Given the description of an element on the screen output the (x, y) to click on. 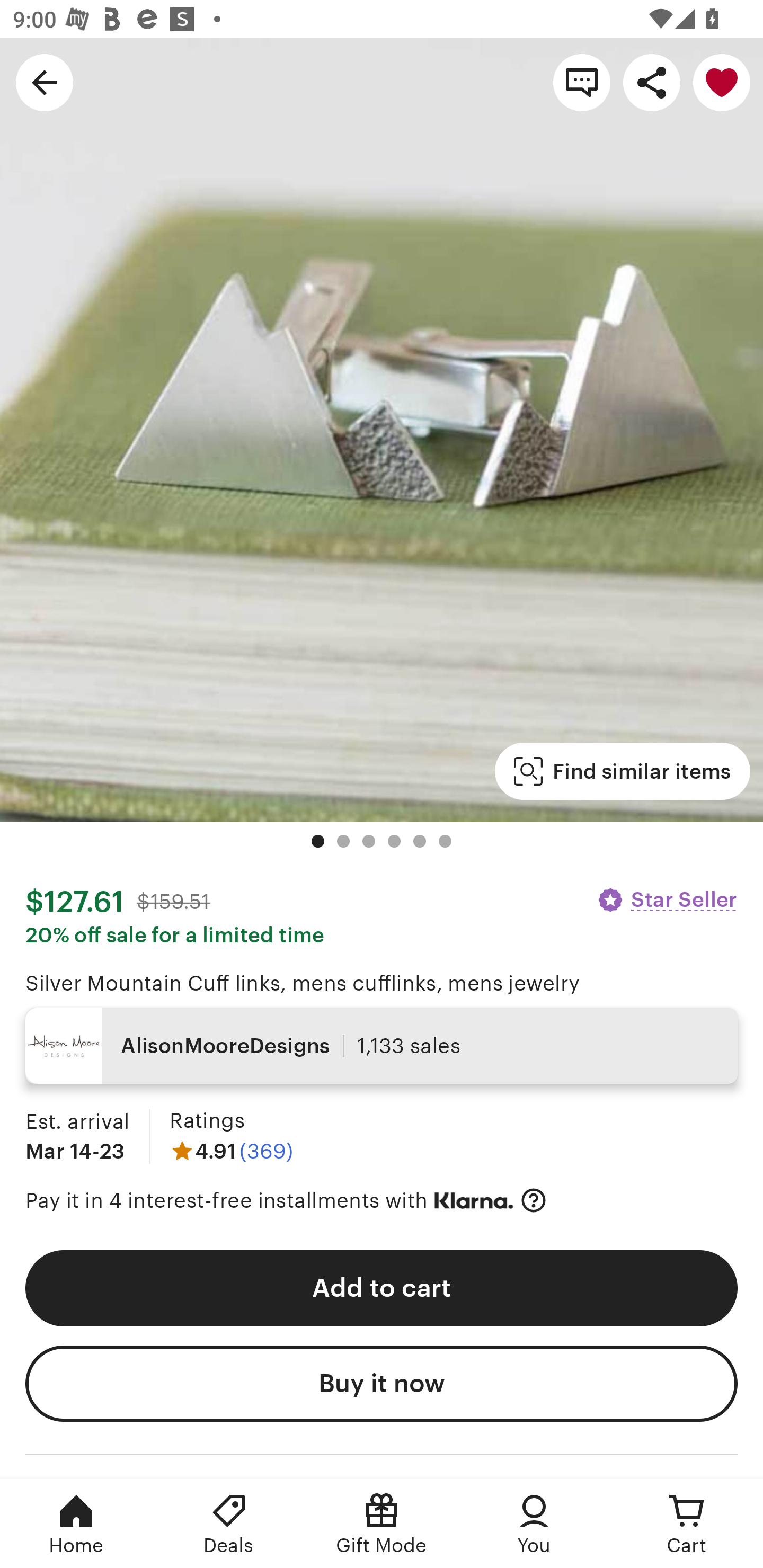
Navigate up (44, 81)
Contact shop (581, 81)
Share (651, 81)
Find similar items (622, 771)
Star Seller (666, 899)
AlisonMooreDesigns 1,133 sales (381, 1045)
Ratings (206, 1120)
4.91 (369) (231, 1150)
Add to cart (381, 1287)
Buy it now (381, 1383)
Deals (228, 1523)
Gift Mode (381, 1523)
You (533, 1523)
Cart (686, 1523)
